Given the description of an element on the screen output the (x, y) to click on. 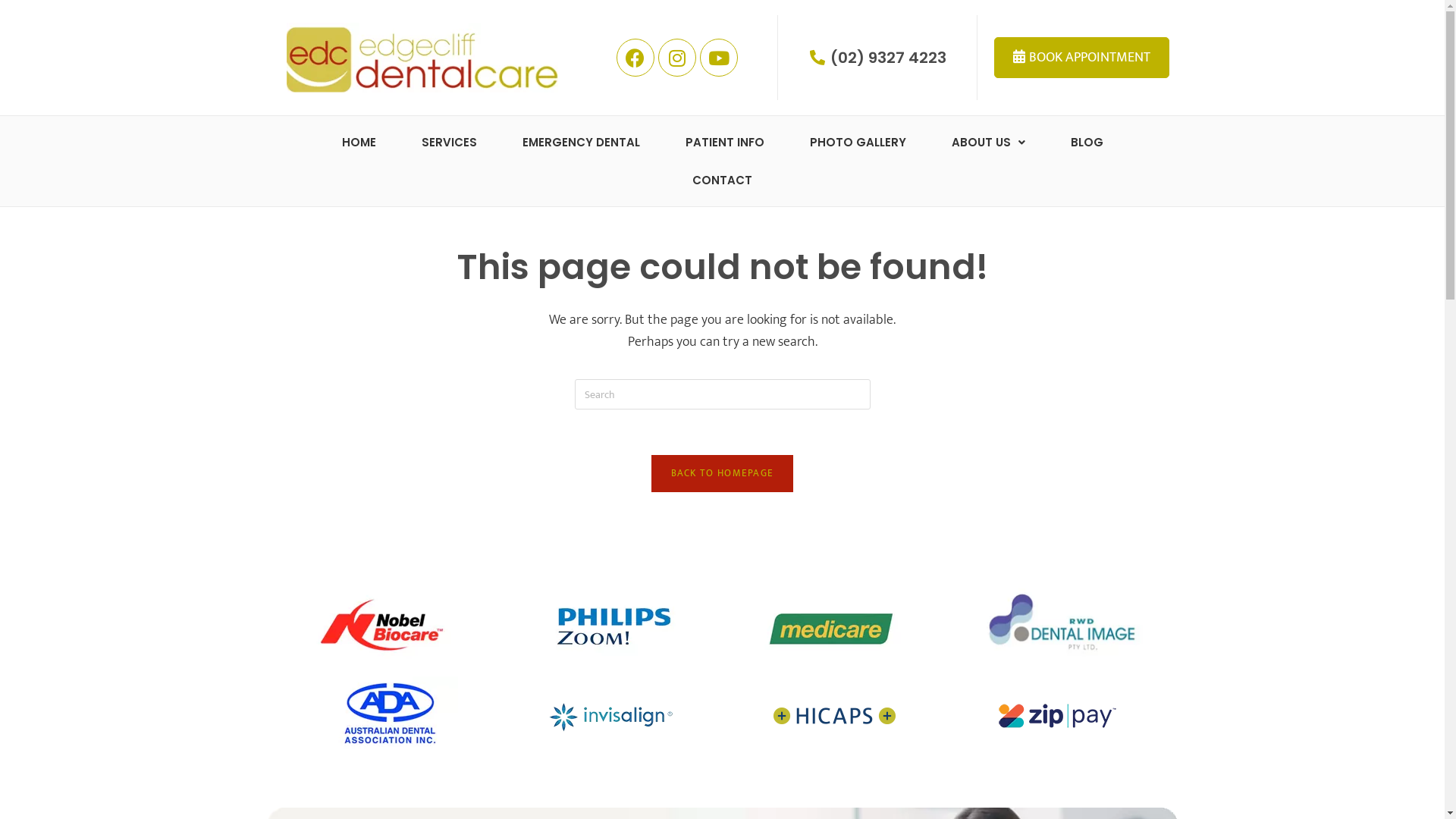
CONTACT Element type: text (722, 179)
BLOG Element type: text (1087, 142)
SERVICES Element type: text (448, 142)
BACK TO HOMEPAGE Element type: text (722, 473)
BOOK APPOINTMENT Element type: text (1081, 57)
PATIENT INFO Element type: text (724, 142)
EMERGENCY DENTAL Element type: text (580, 142)
PHOTO GALLERY Element type: text (857, 142)
HOME Element type: text (358, 142)
(02) 9327 4223 Element type: text (877, 57)
ABOUT US Element type: text (987, 142)
